Given the description of an element on the screen output the (x, y) to click on. 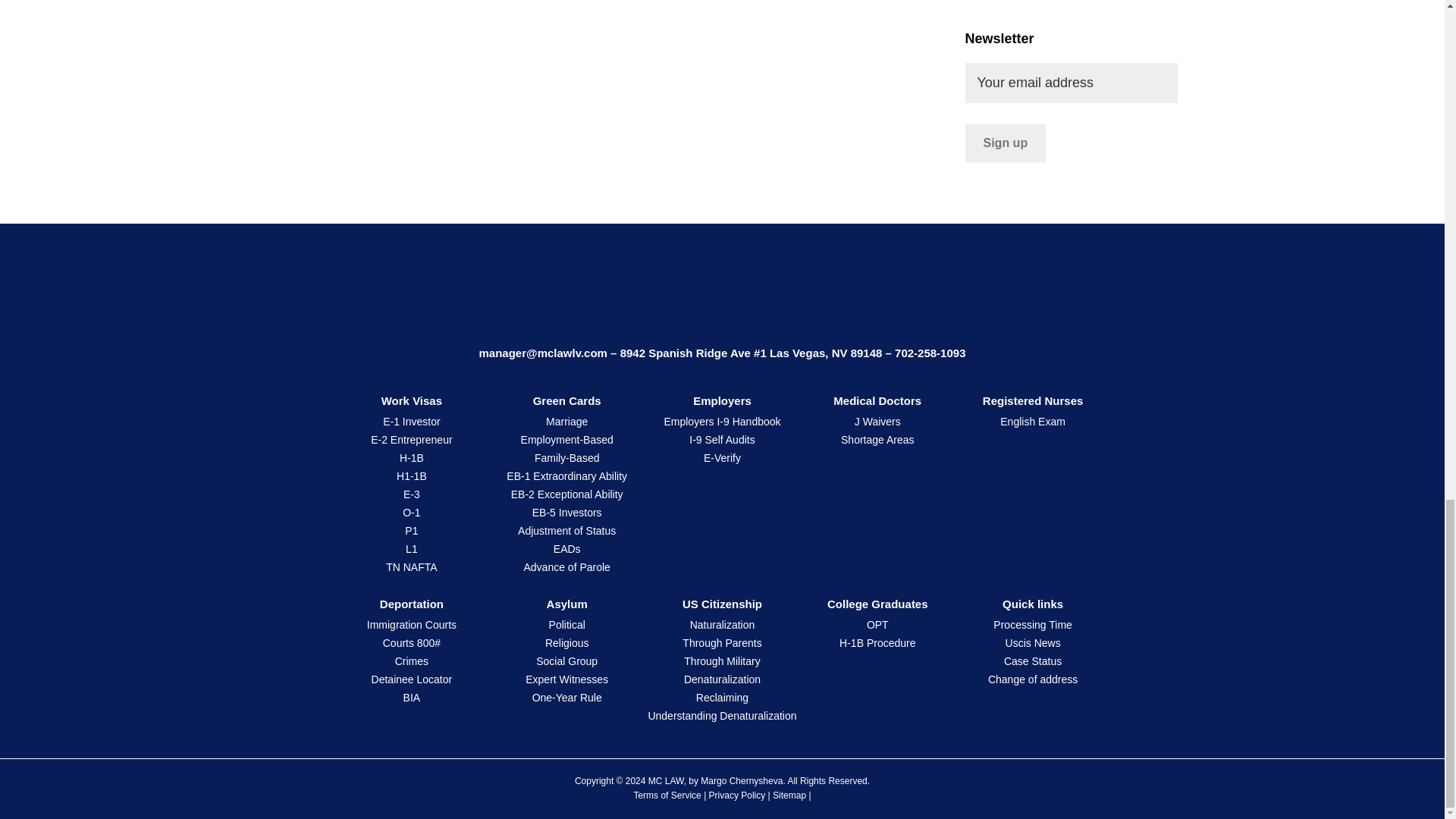
Sign up (1004, 143)
